Given the description of an element on the screen output the (x, y) to click on. 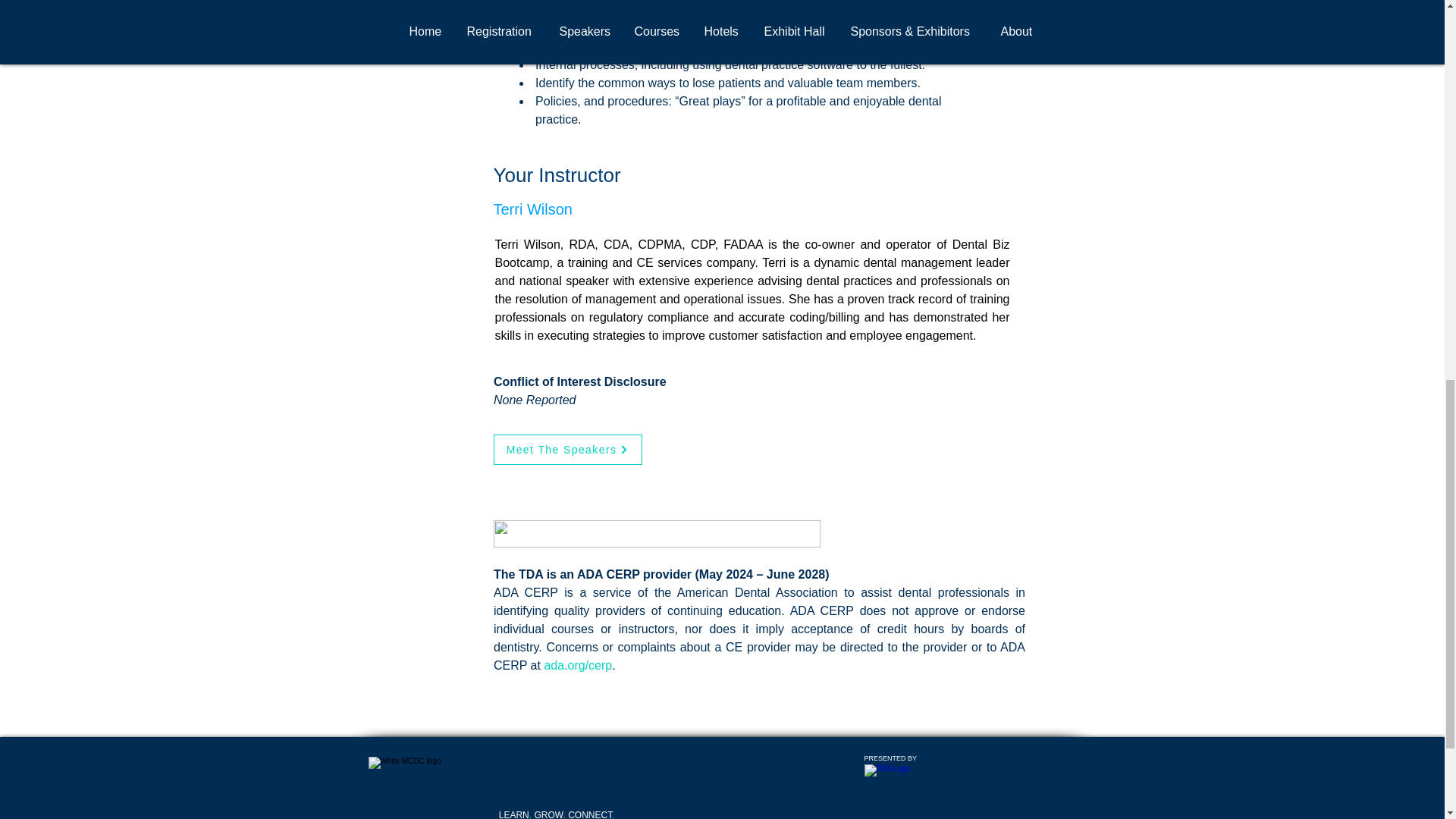
Meet The Speakers (567, 449)
